Given the description of an element on the screen output the (x, y) to click on. 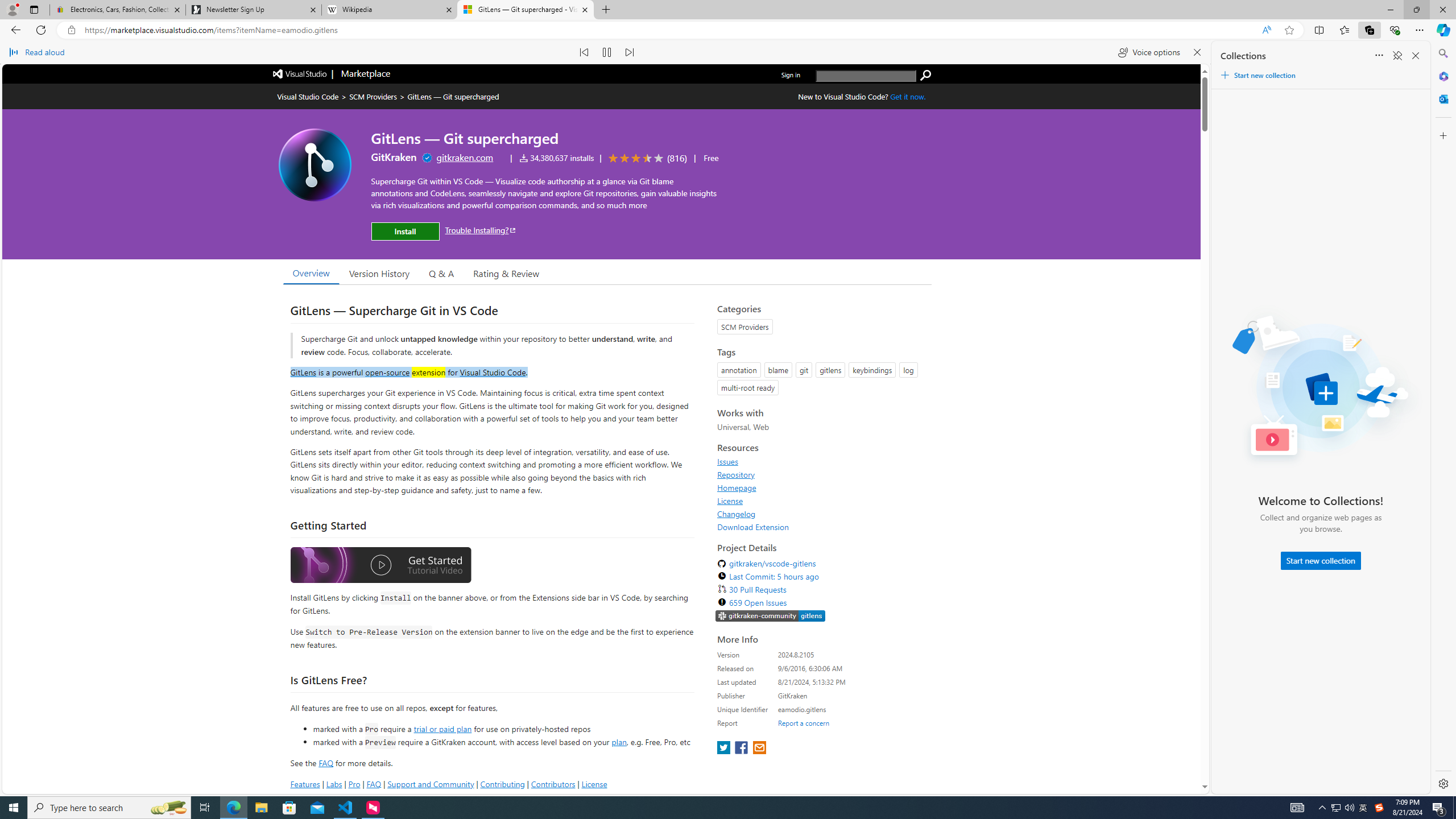
Features (304, 783)
FAQ (373, 783)
Read previous paragraph (583, 52)
Average rating: 3.7 out of 5. Navigate to user reviews. (645, 157)
https://slack.gitkraken.com// (769, 617)
share extension on facebook (742, 748)
SCM Providers (373, 96)
